Given the description of an element on the screen output the (x, y) to click on. 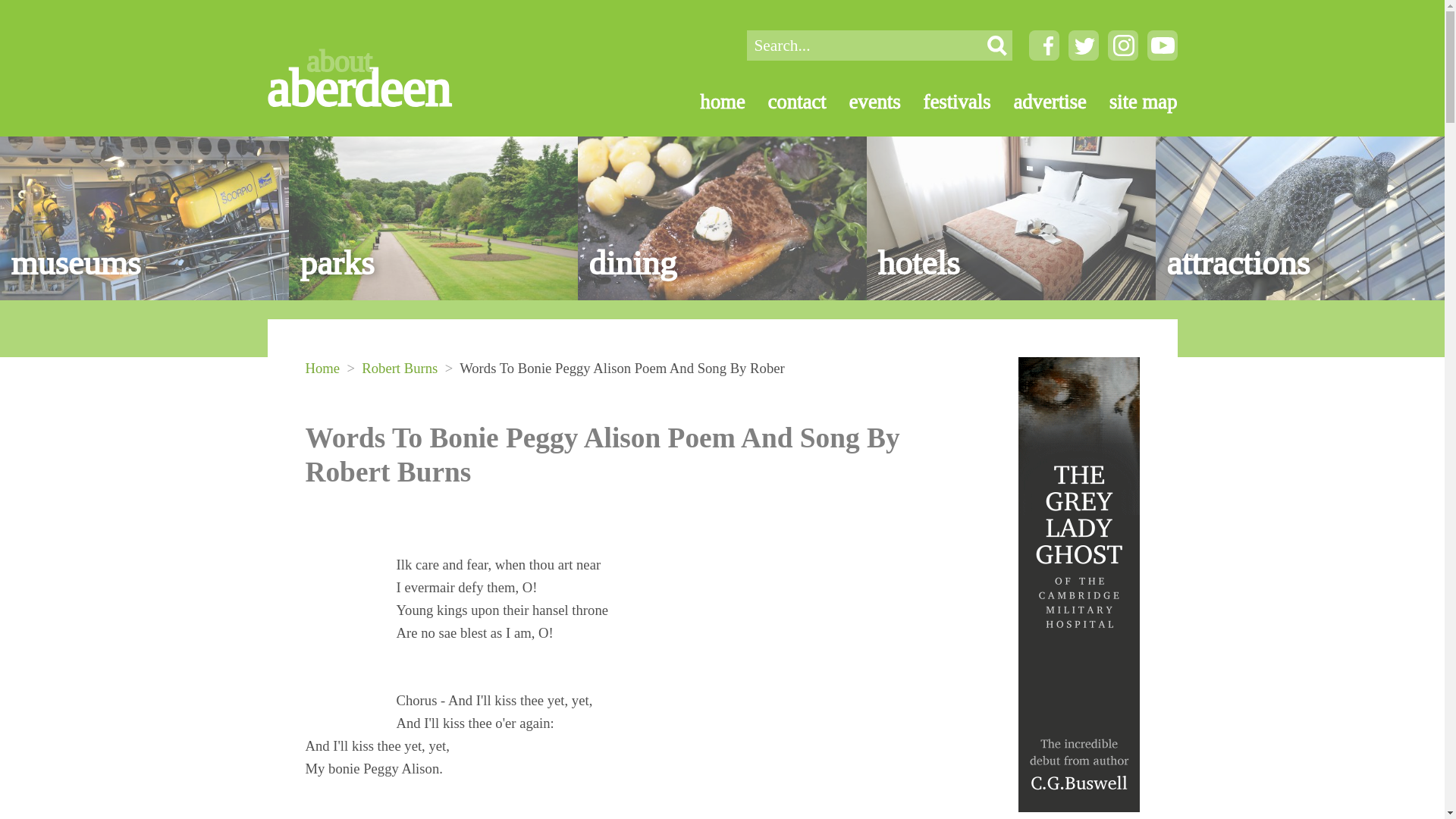
contact (786, 101)
Search... (863, 45)
advertise (1038, 101)
Search... (863, 45)
events (864, 101)
Robert Burns (399, 367)
festivals (946, 101)
Home (321, 367)
site map (1131, 101)
museums (144, 218)
